Given the description of an element on the screen output the (x, y) to click on. 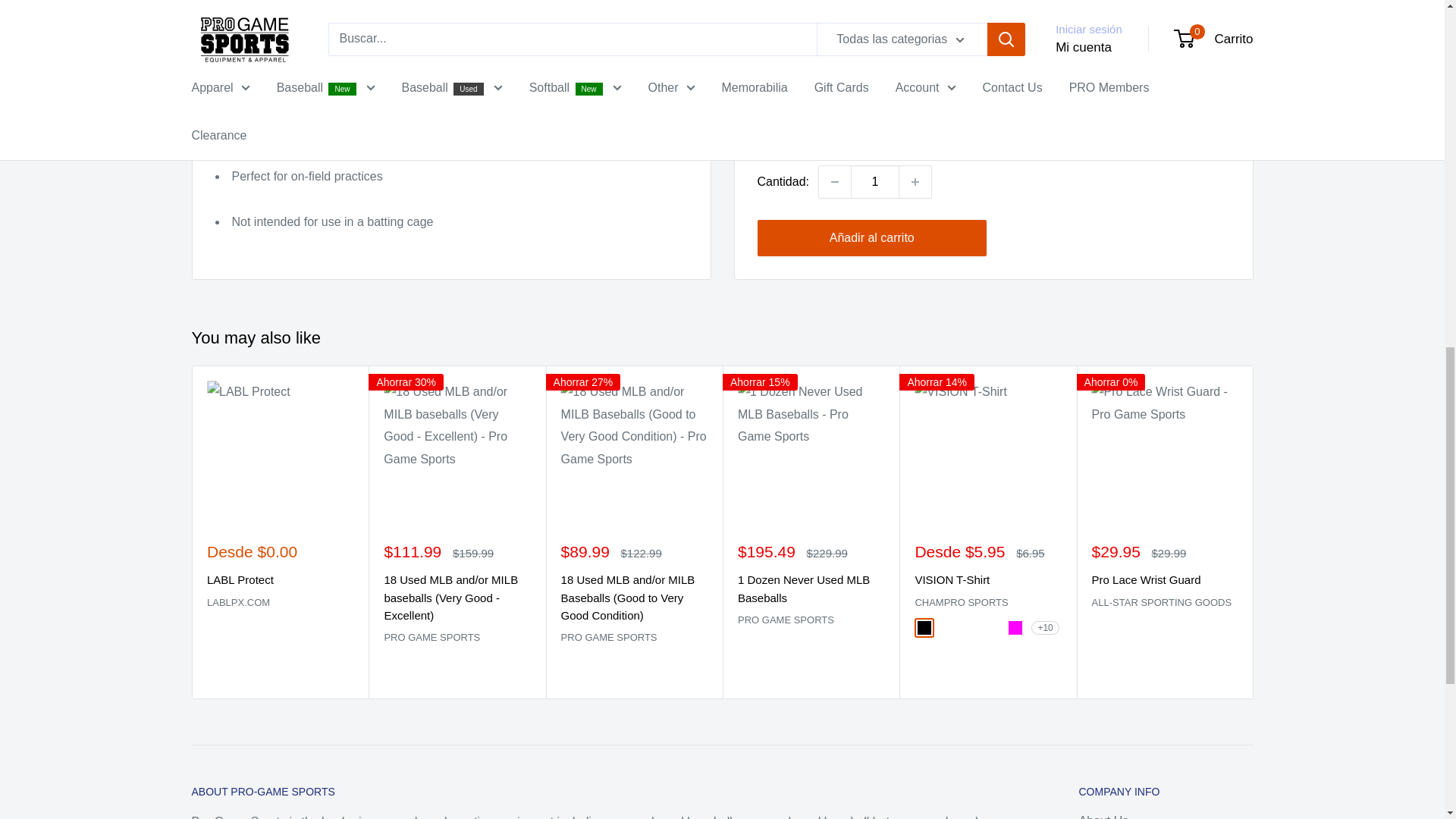
Forest Green (991, 627)
Cardinal (946, 627)
Black (924, 627)
Charcoal (969, 627)
Fuchsia (1015, 627)
